Given the description of an element on the screen output the (x, y) to click on. 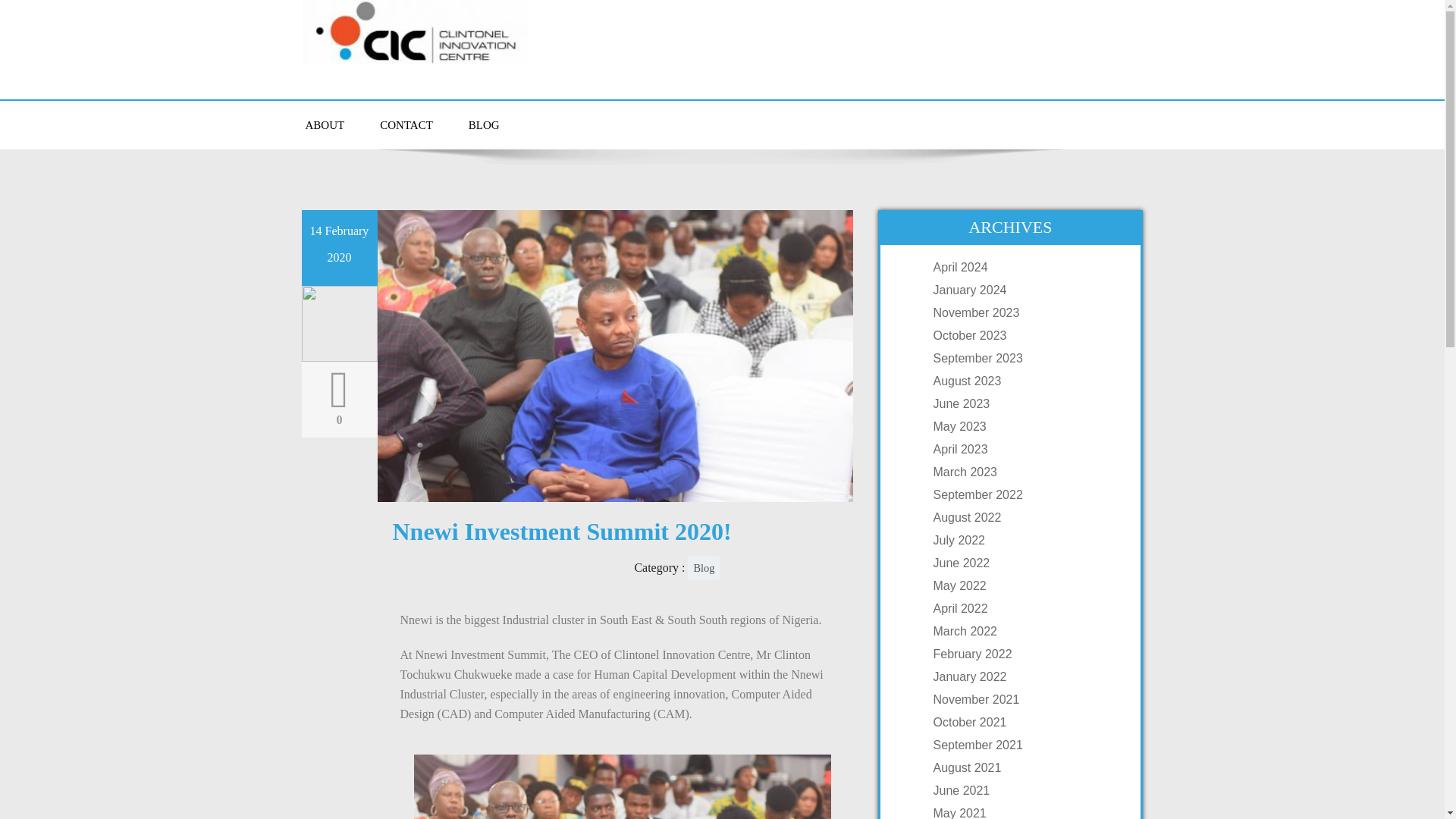
February 2022 (1024, 654)
May 2023 (1024, 426)
January 2022 (1024, 676)
September 2023 (1024, 358)
April 2024 (1024, 267)
June 2022 (1024, 563)
November 2021 (1024, 699)
September 2021 (1024, 744)
March 2023 (1024, 472)
May 2021 (1024, 812)
January 2024 (1024, 290)
Blog (703, 567)
BLOG (483, 124)
ABOUT (324, 124)
CONTACT (406, 124)
